Given the description of an element on the screen output the (x, y) to click on. 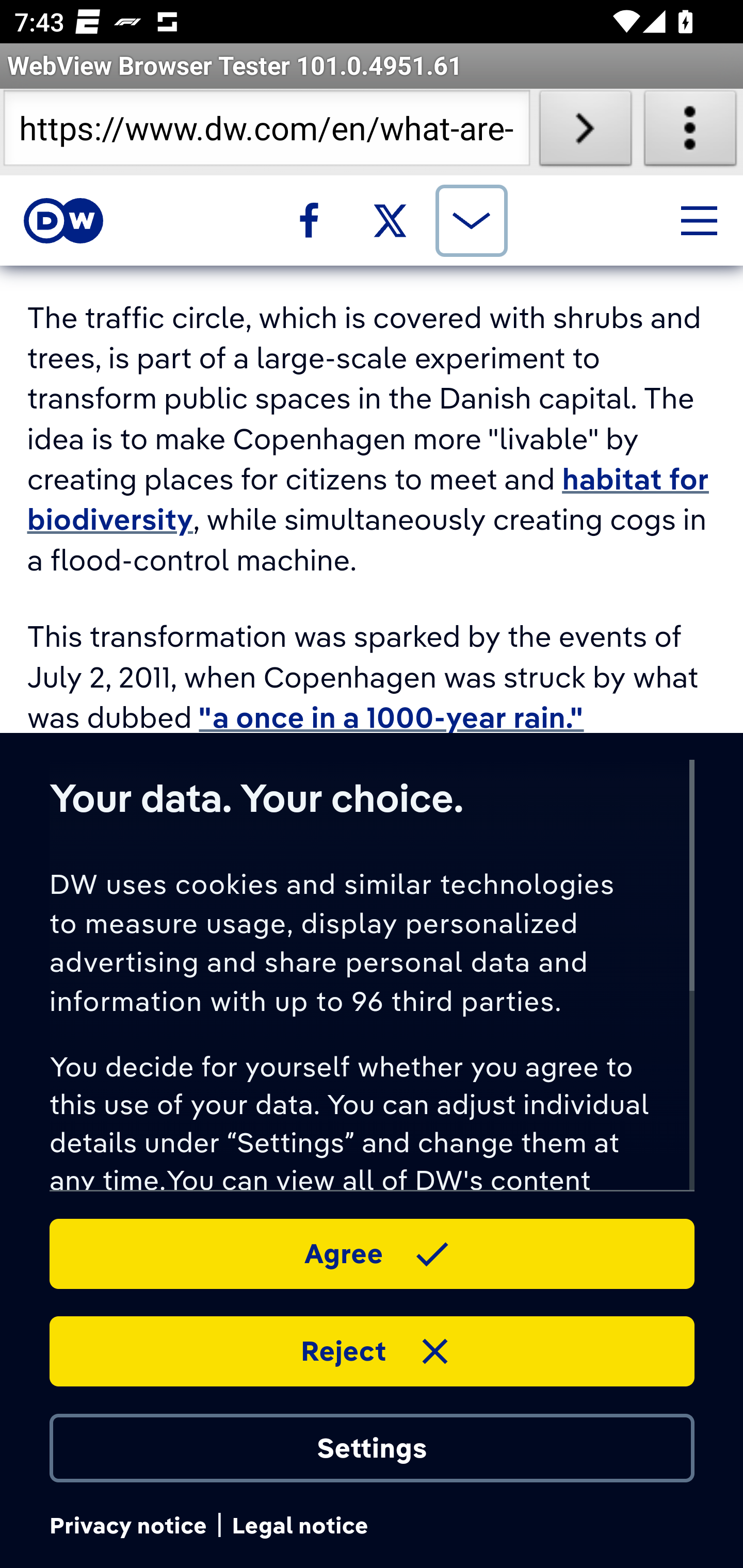
Load URL (585, 132)
About WebView (690, 132)
External link — share this page with Facebook (308, 219)
External link — share this page with X / Twitter (390, 219)
Show more apps (470, 219)
Open main navigation (699, 219)
logos/dw_logo_dark-blue (62, 220)
habitat for biodiversity (367, 499)
"a once in a 1000-year rain." (391, 717)
Agree (371, 1252)
Reject (371, 1349)
Settings (371, 1447)
Privacy notice (127, 1526)
Legal notice (300, 1526)
